Given the description of an element on the screen output the (x, y) to click on. 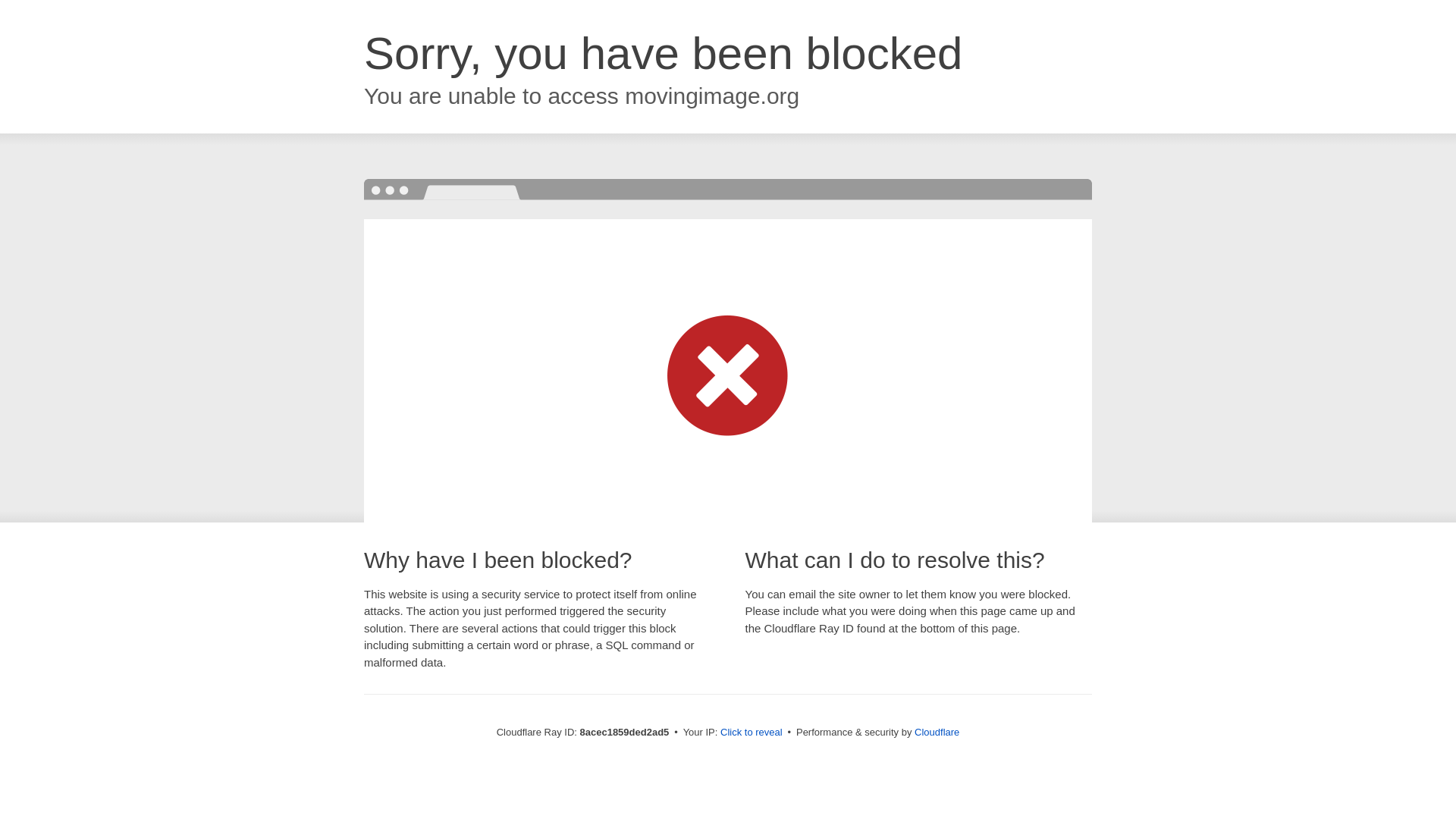
Cloudflare (936, 731)
Click to reveal (751, 732)
